Given the description of an element on the screen output the (x, y) to click on. 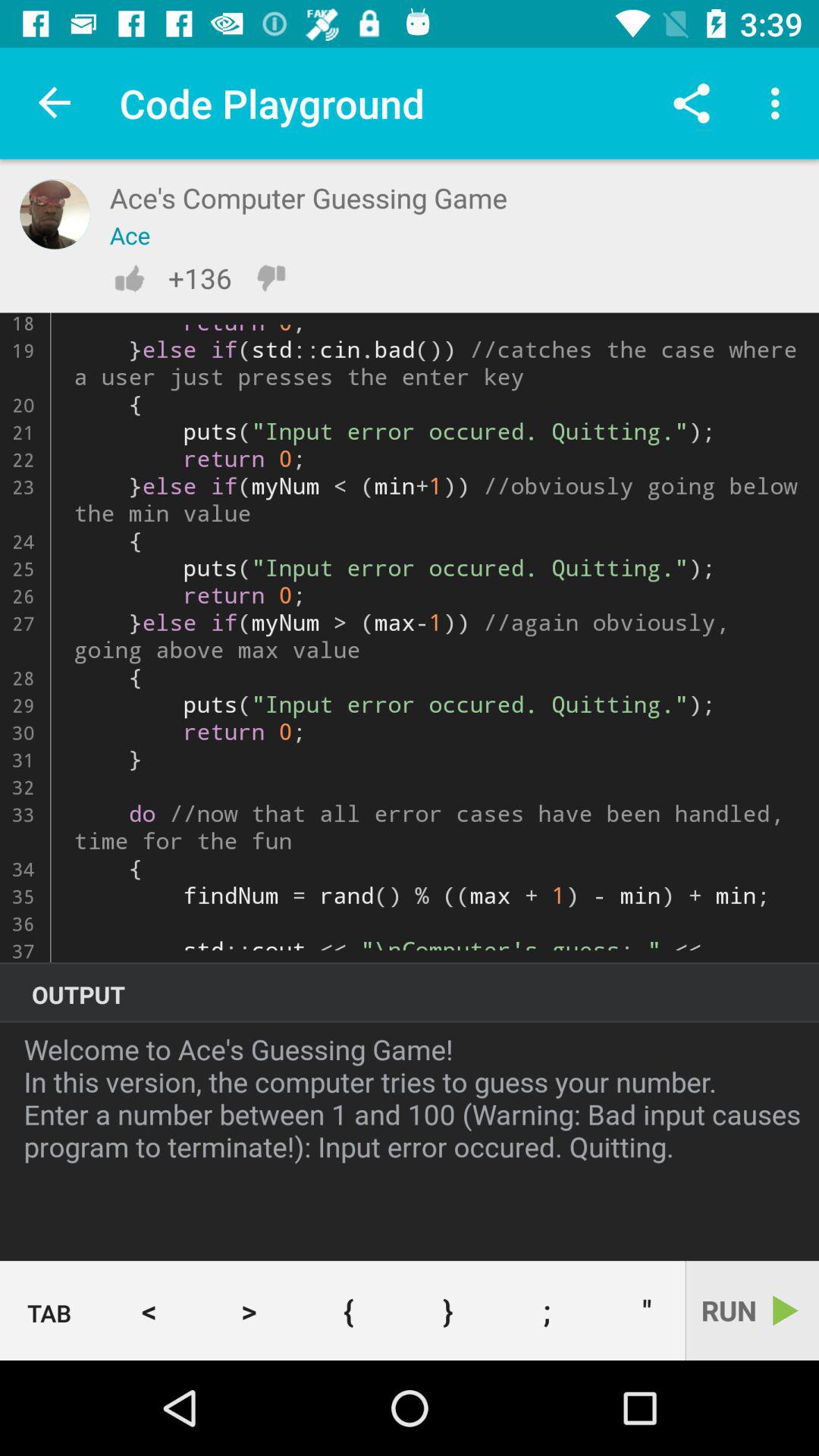
click icon below welcome to ace item (49, 1311)
